Given the description of an element on the screen output the (x, y) to click on. 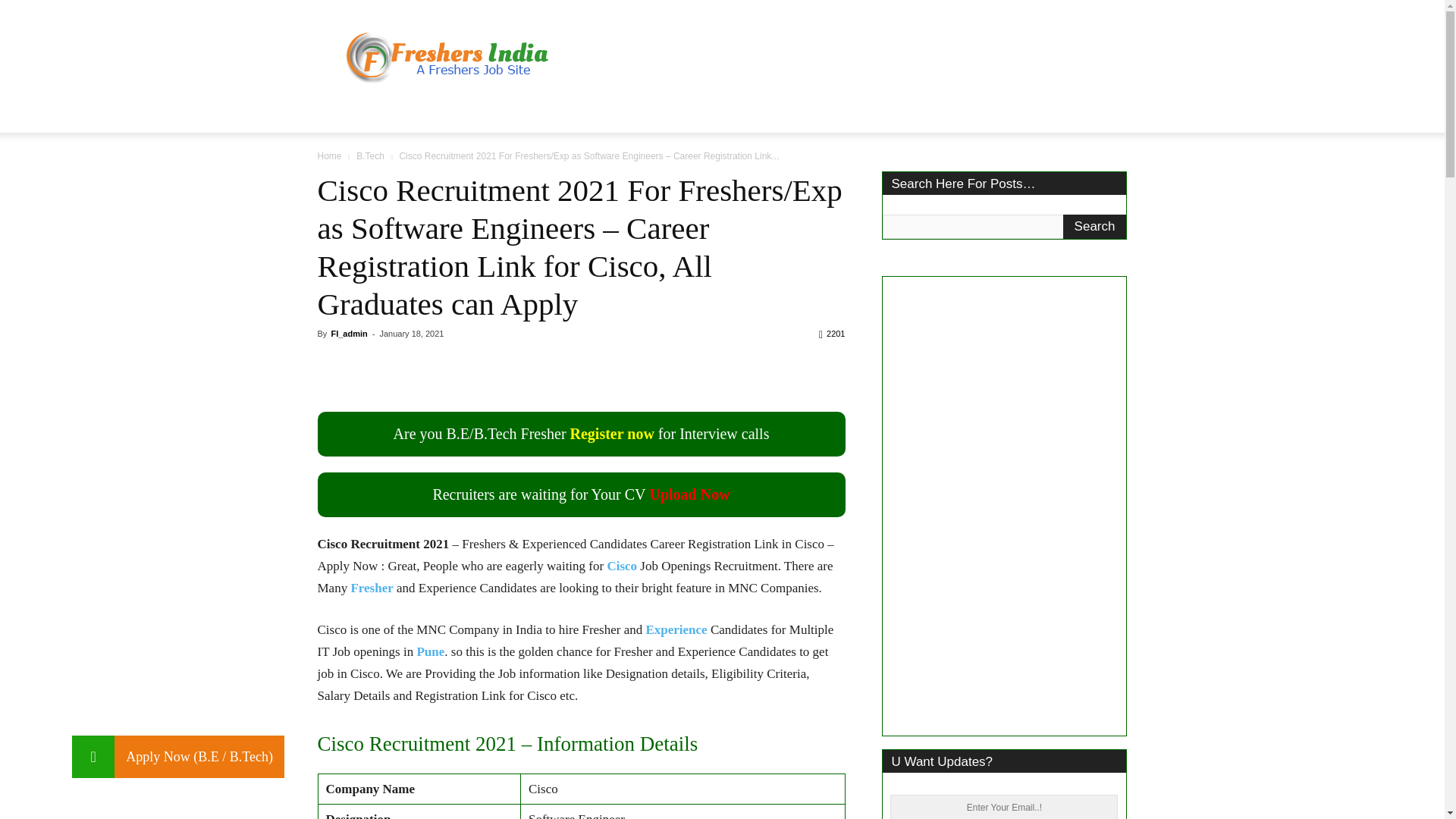
GOVT JOBS (481, 114)
MATERIALS FOR FRESHERS (776, 114)
Search (1094, 226)
IT JOBS (405, 114)
HOME (344, 114)
BANK JOBS (643, 114)
View all posts in B.Tech (370, 155)
WALKINS (561, 114)
